Given the description of an element on the screen output the (x, y) to click on. 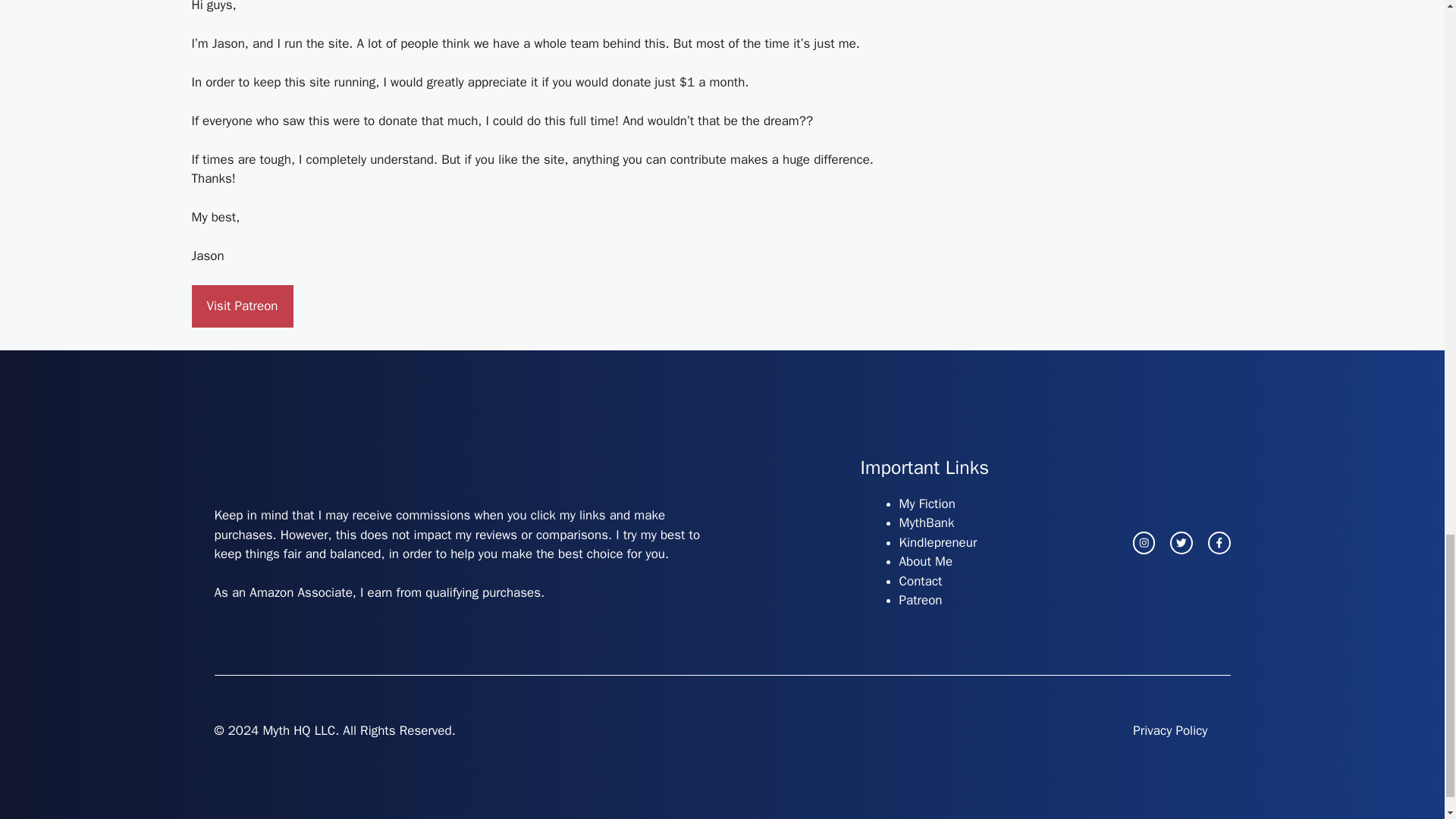
Patreon (920, 600)
Contact (920, 580)
Visit Patreon (241, 306)
Privacy Policy (1169, 731)
Kindlepreneur (937, 542)
My Fiction (927, 503)
About Me (926, 561)
MythBank (927, 522)
